Given the description of an element on the screen output the (x, y) to click on. 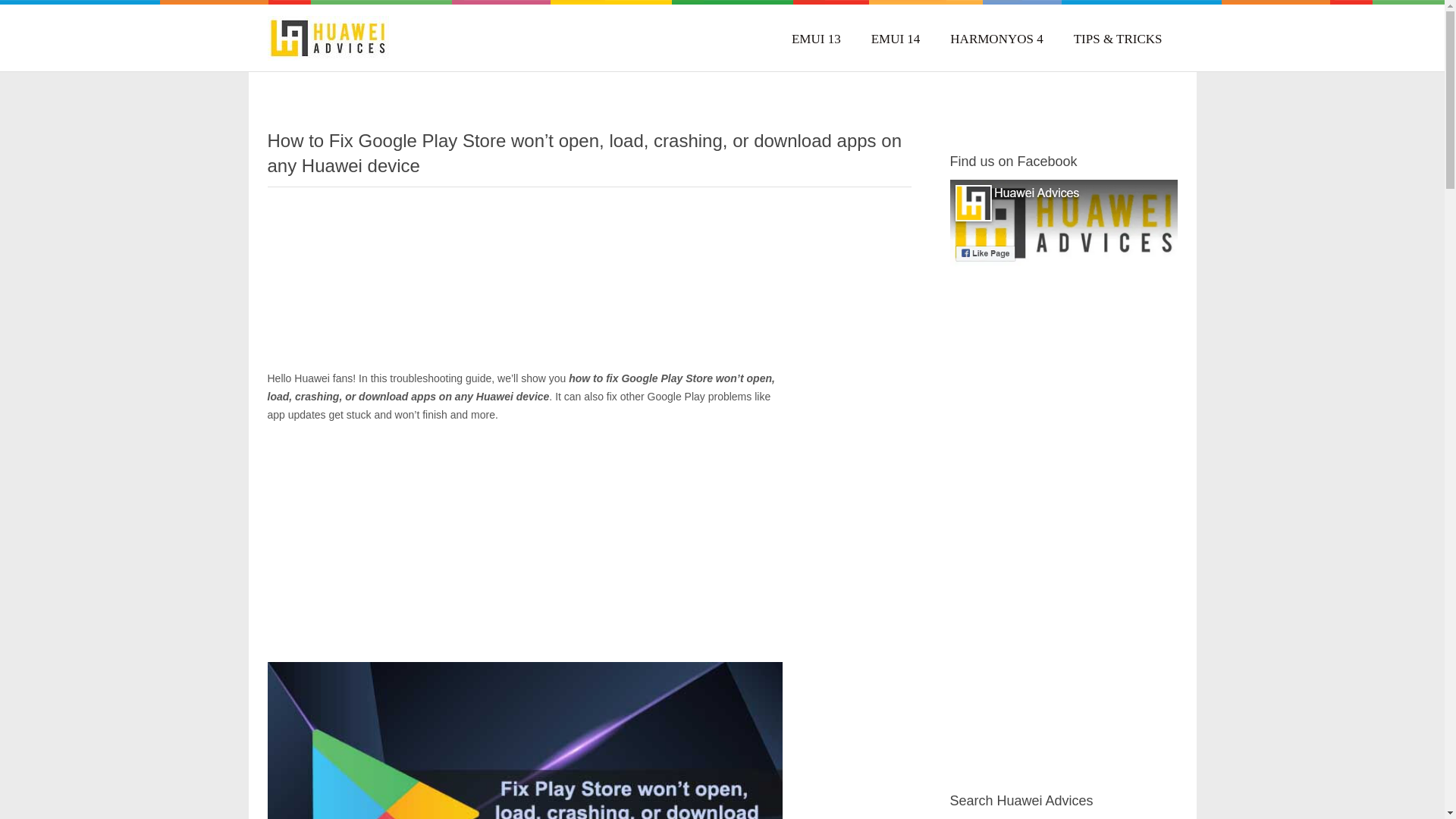
EMUI 14 (895, 38)
Advertisement (1062, 534)
EMUI 13 (816, 38)
Advertisement (588, 287)
HARMONYOS 4 (996, 38)
